Given the description of an element on the screen output the (x, y) to click on. 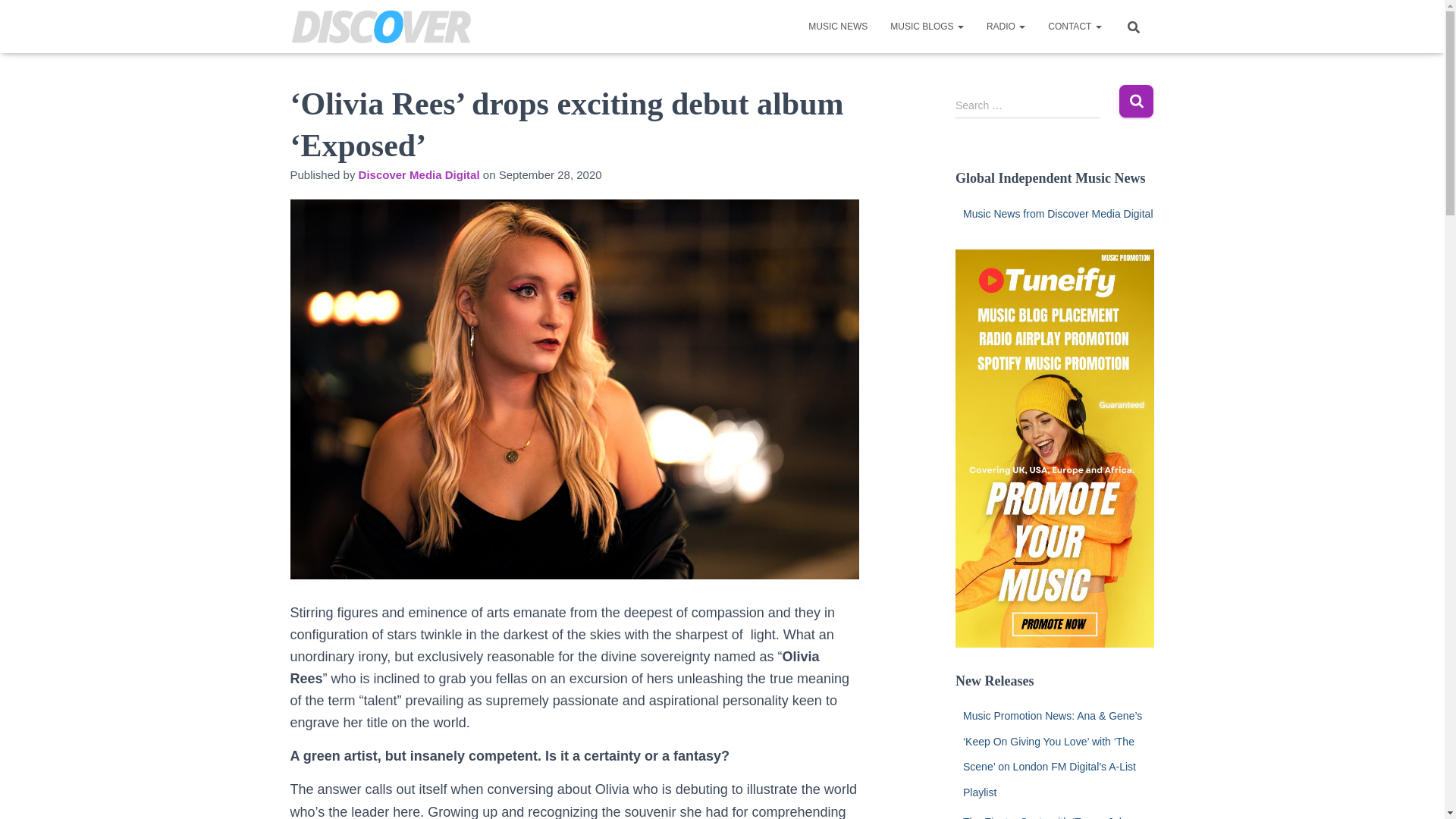
Radio (1005, 26)
CONTACT (1074, 26)
MUSIC NEWS (837, 26)
RADIO (1005, 26)
Music Blogs (927, 26)
Search (1136, 101)
Music News (837, 26)
MUSIC BLOGS (927, 26)
Discover Media Digital (419, 174)
Search (1136, 101)
